Given the description of an element on the screen output the (x, y) to click on. 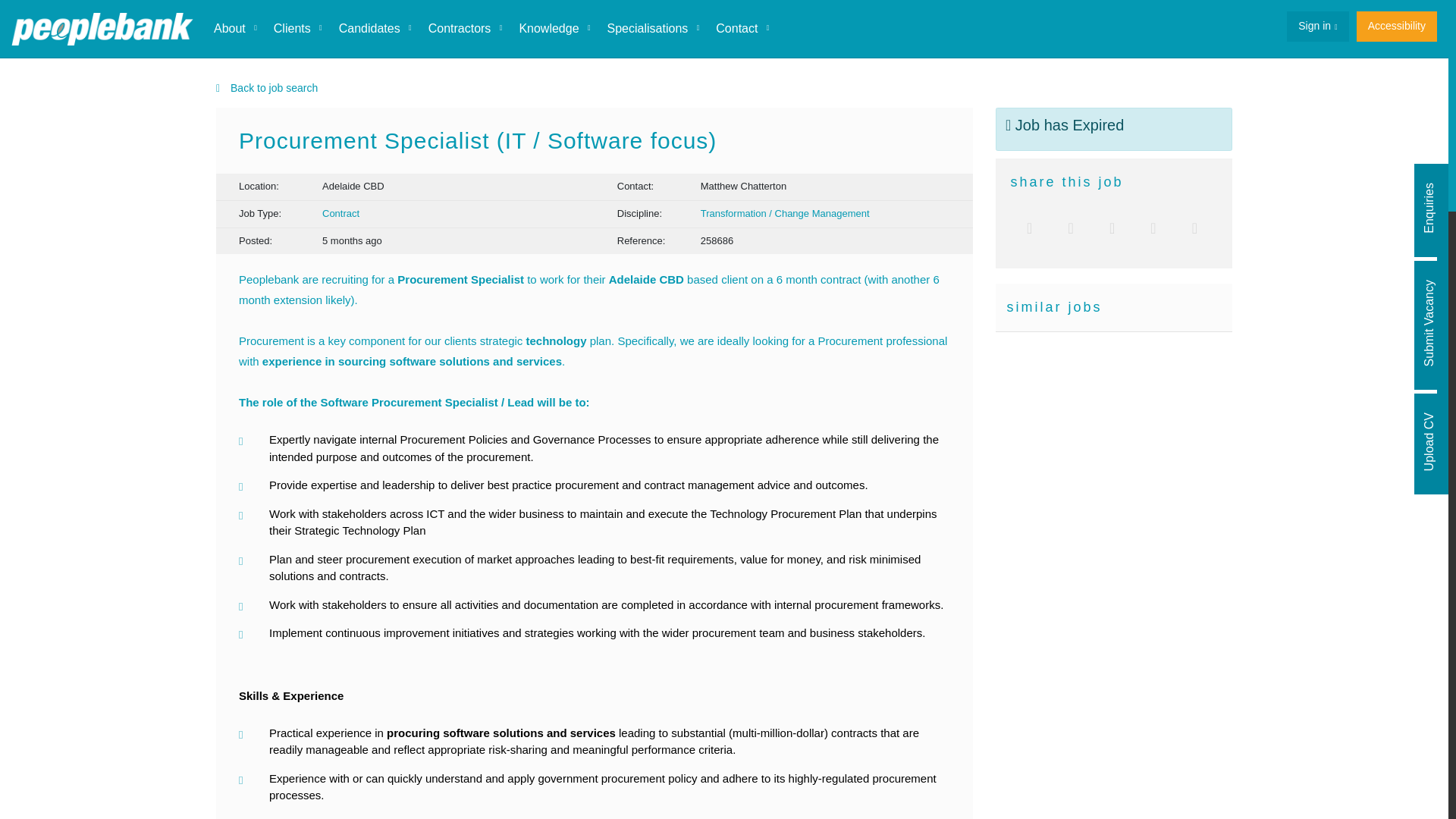
Knowledge (552, 28)
Specialisations (652, 28)
Contractors (465, 28)
About (234, 28)
Clients (297, 28)
Go to the Homepage (102, 28)
Peoplebank (102, 28)
Candidates (374, 28)
